Given the description of an element on the screen output the (x, y) to click on. 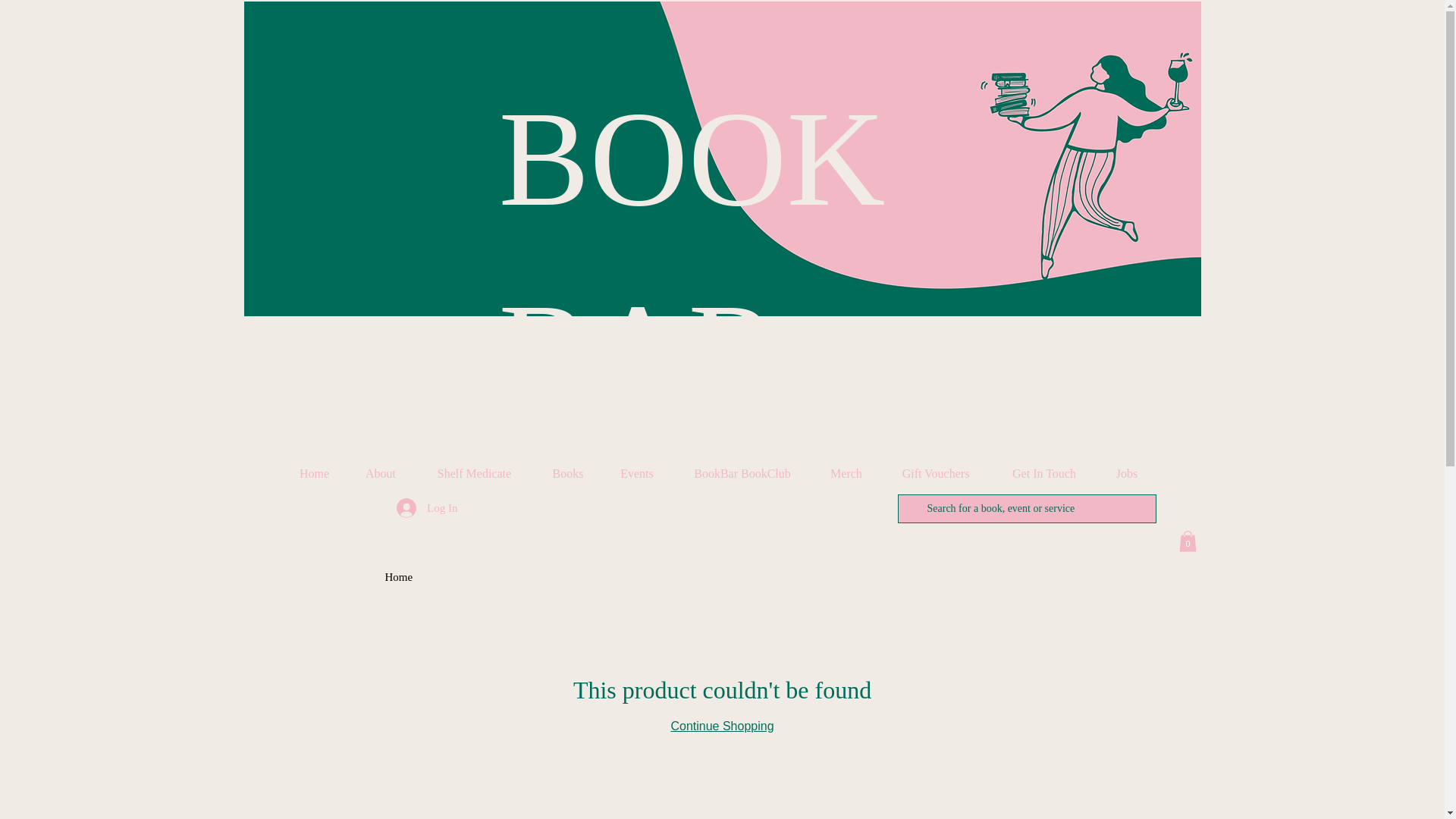
About (380, 474)
BookBar BookClub (741, 474)
Get In Touch (1044, 474)
Home (399, 576)
Shelf Medicate (473, 474)
Merch (846, 474)
Gift Vouchers (935, 474)
Home (314, 474)
Books (567, 474)
Log In (426, 507)
